Given the description of an element on the screen output the (x, y) to click on. 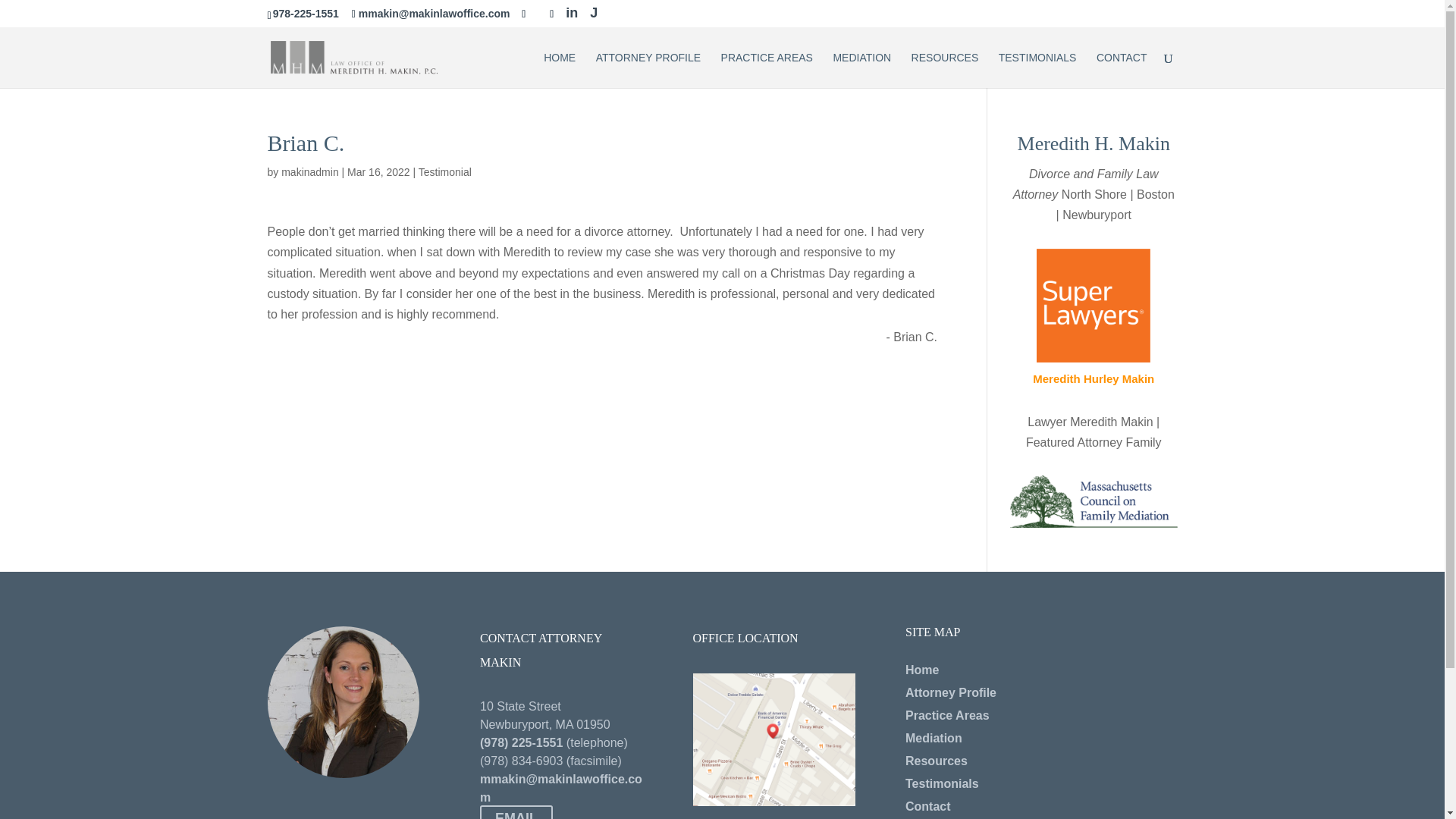
Testimonial (445, 172)
J (592, 12)
Featured Attorney Family (1093, 441)
Posts by makinadmin (309, 172)
RESOURCES (944, 69)
Meredith Hurley Makin (1093, 378)
EMAIL (516, 812)
makinadmin (309, 172)
TESTIMONIALS (1037, 69)
ATTORNEY PROFILE (647, 69)
Home (922, 669)
Attorney Profile (950, 692)
Lawyer Meredith Makin (1090, 421)
